Given the description of an element on the screen output the (x, y) to click on. 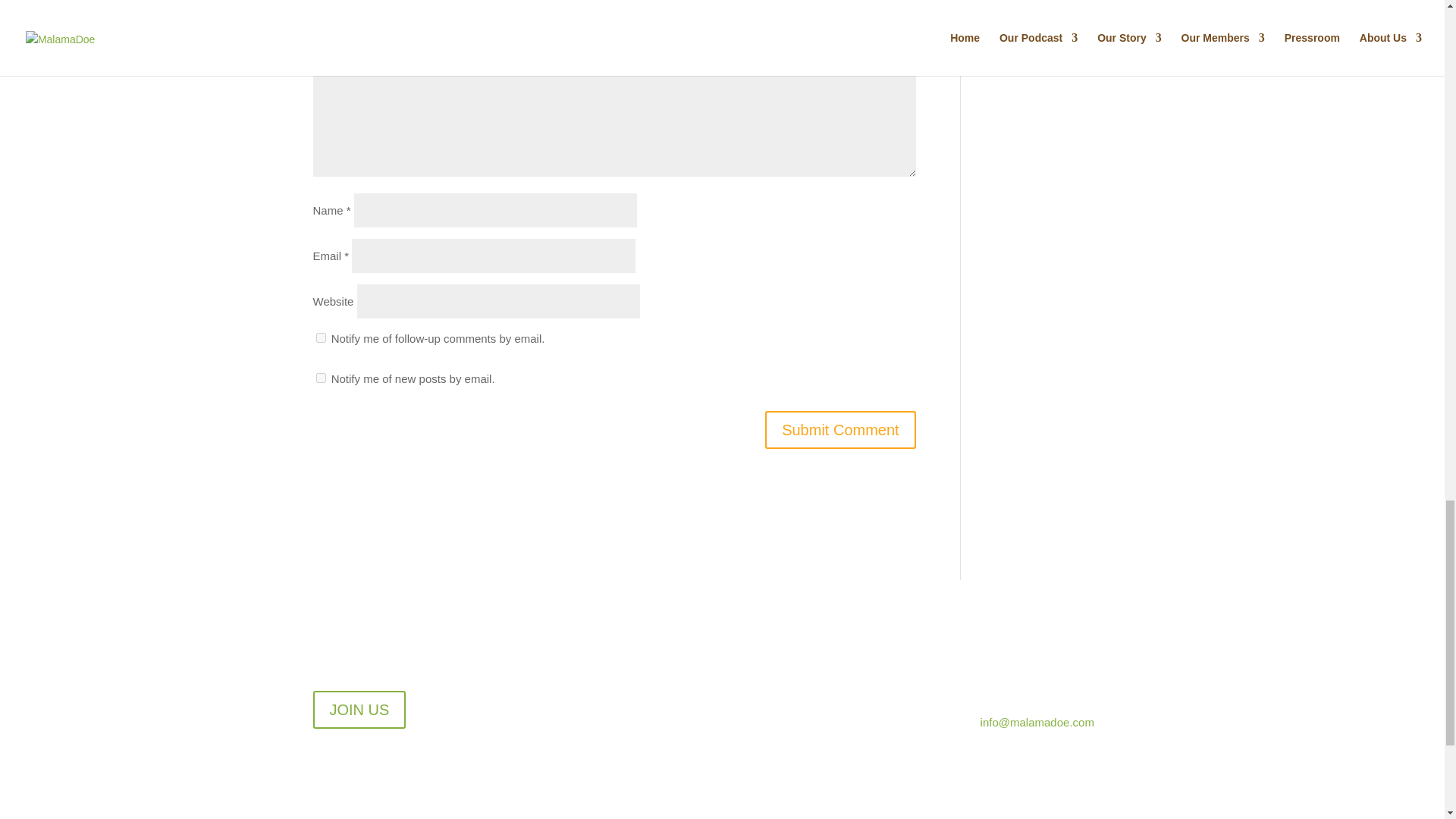
Follow on Facebook (746, 684)
Follow on Youtube (837, 684)
Follow on Twitter (777, 684)
subscribe (319, 378)
Follow on LinkedIn (868, 684)
Submit Comment (840, 429)
subscribe (319, 337)
Submit Comment (840, 429)
Follow on Instagram (806, 684)
